Given the description of an element on the screen output the (x, y) to click on. 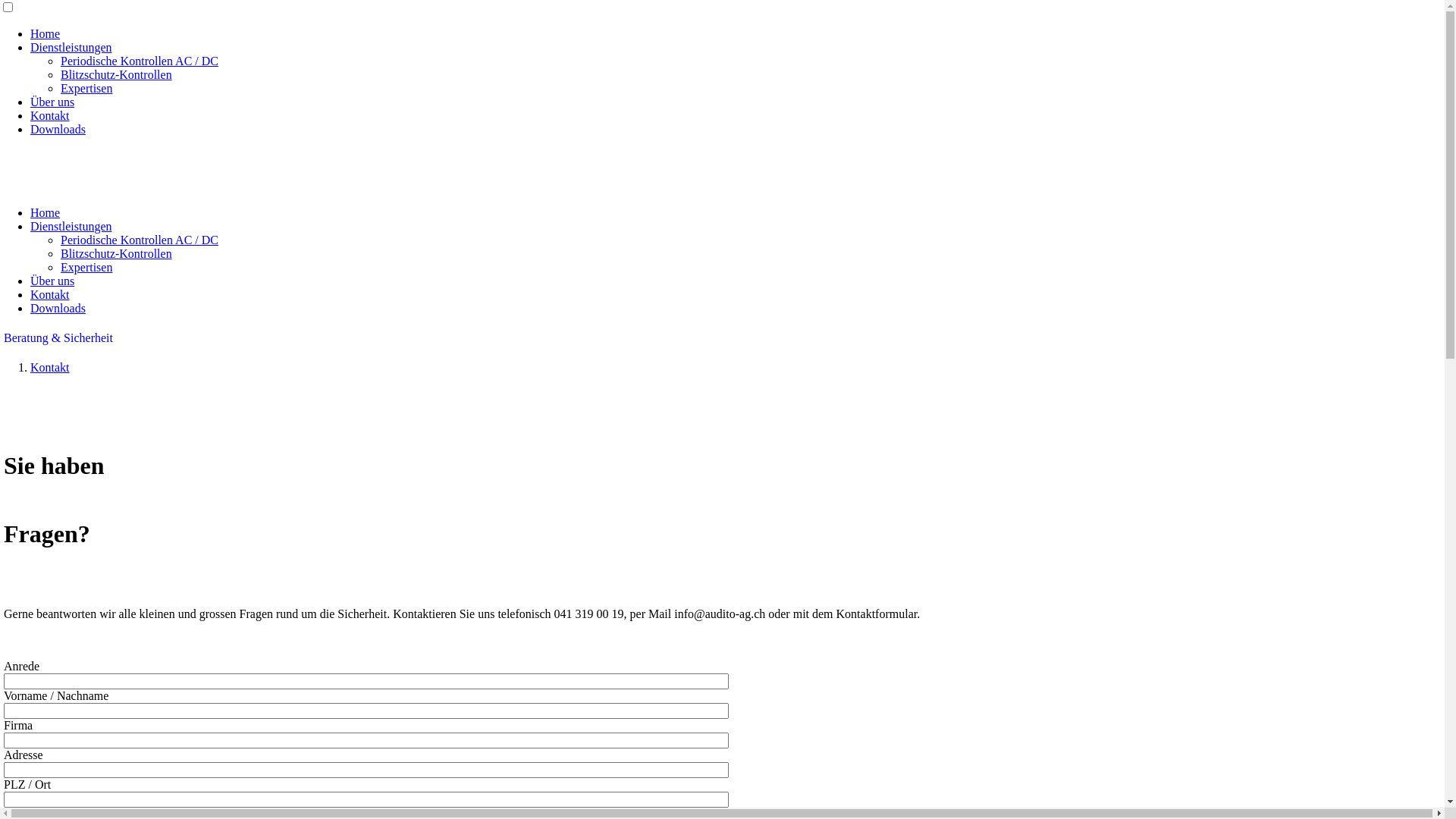
Dienstleistungen Element type: text (71, 225)
Home Element type: text (44, 212)
Expertisen Element type: text (86, 266)
Kontakt Element type: text (49, 366)
Periodische Kontrollen AC / DC Element type: text (139, 60)
Downloads Element type: text (57, 307)
Dienstleistungen Element type: text (71, 46)
Blitzschutz-Kontrollen Element type: text (116, 253)
Periodische Kontrollen AC / DC Element type: text (139, 239)
Kontakt Element type: text (49, 294)
Home Element type: text (44, 33)
Expertisen Element type: text (86, 87)
Beratung & Sicherheit Element type: text (57, 337)
Kontakt Element type: text (49, 115)
Downloads Element type: text (57, 128)
Blitzschutz-Kontrollen Element type: text (116, 74)
